Given the description of an element on the screen output the (x, y) to click on. 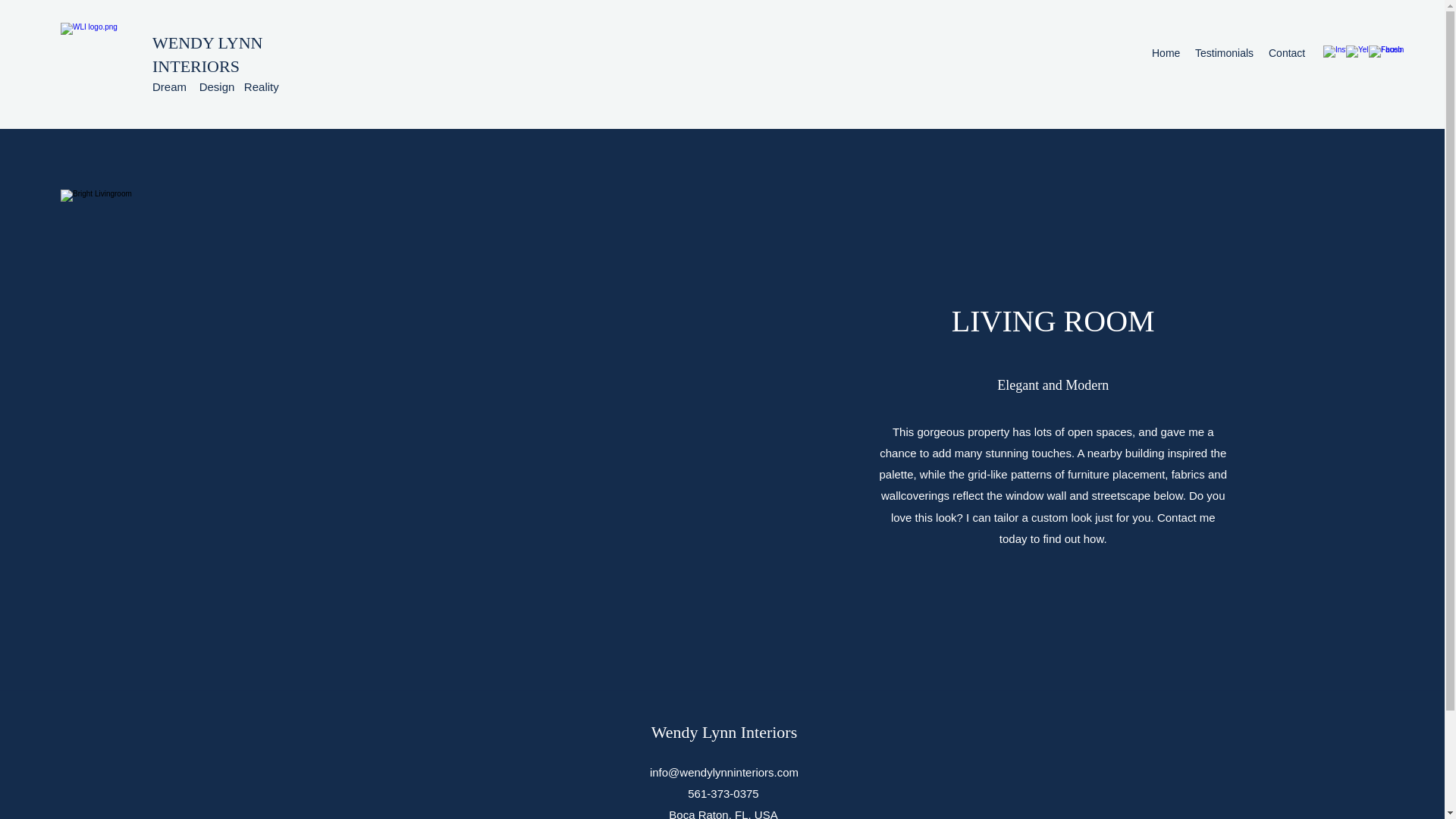
Home (1166, 52)
Wendy Lynn Interiors (723, 732)
Testimonials (1224, 52)
WENDY LYNN INTERIORS (207, 54)
Contact (1286, 52)
